Given the description of an element on the screen output the (x, y) to click on. 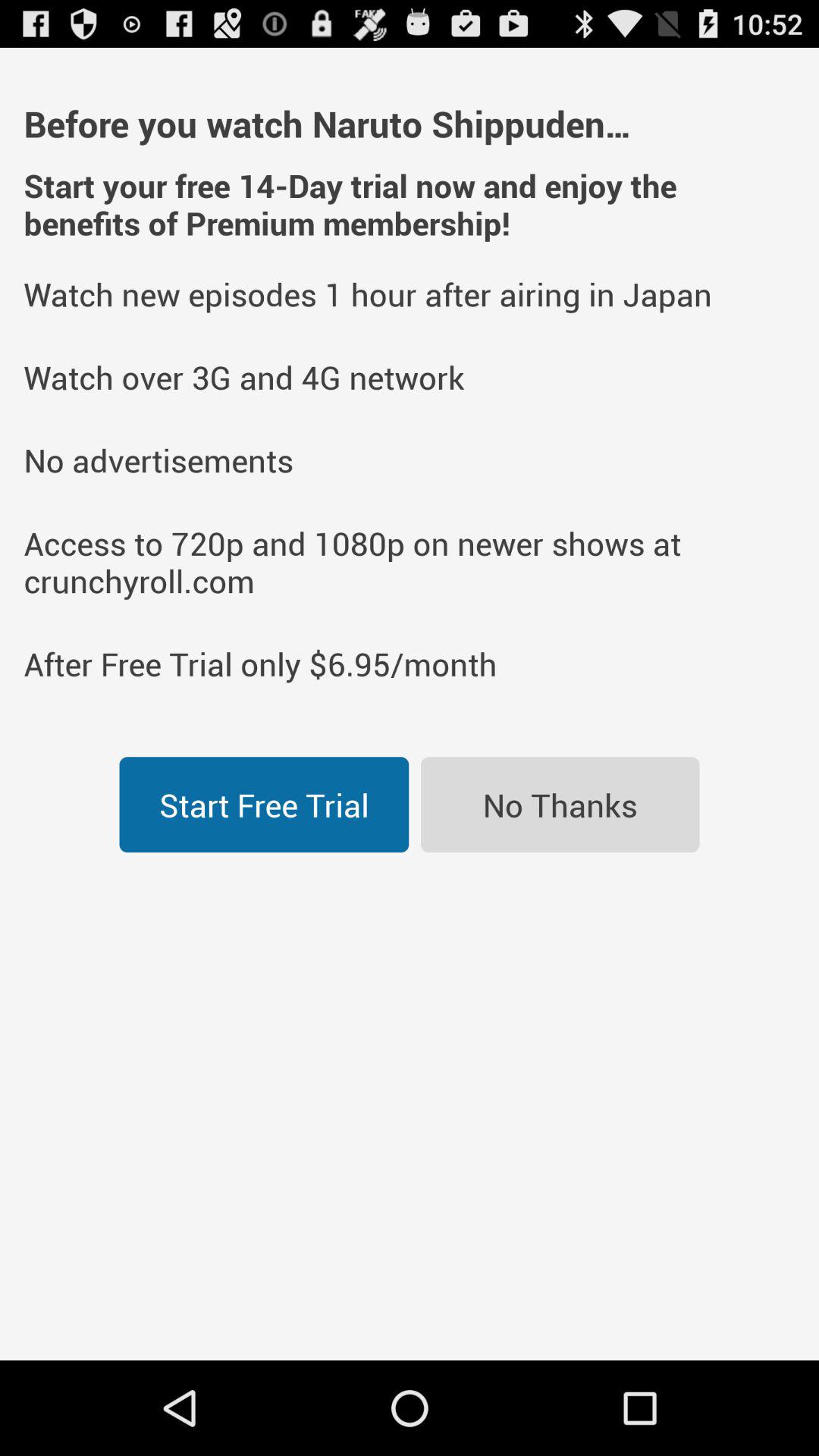
press the icon to the right of the start free trial icon (559, 804)
